Given the description of an element on the screen output the (x, y) to click on. 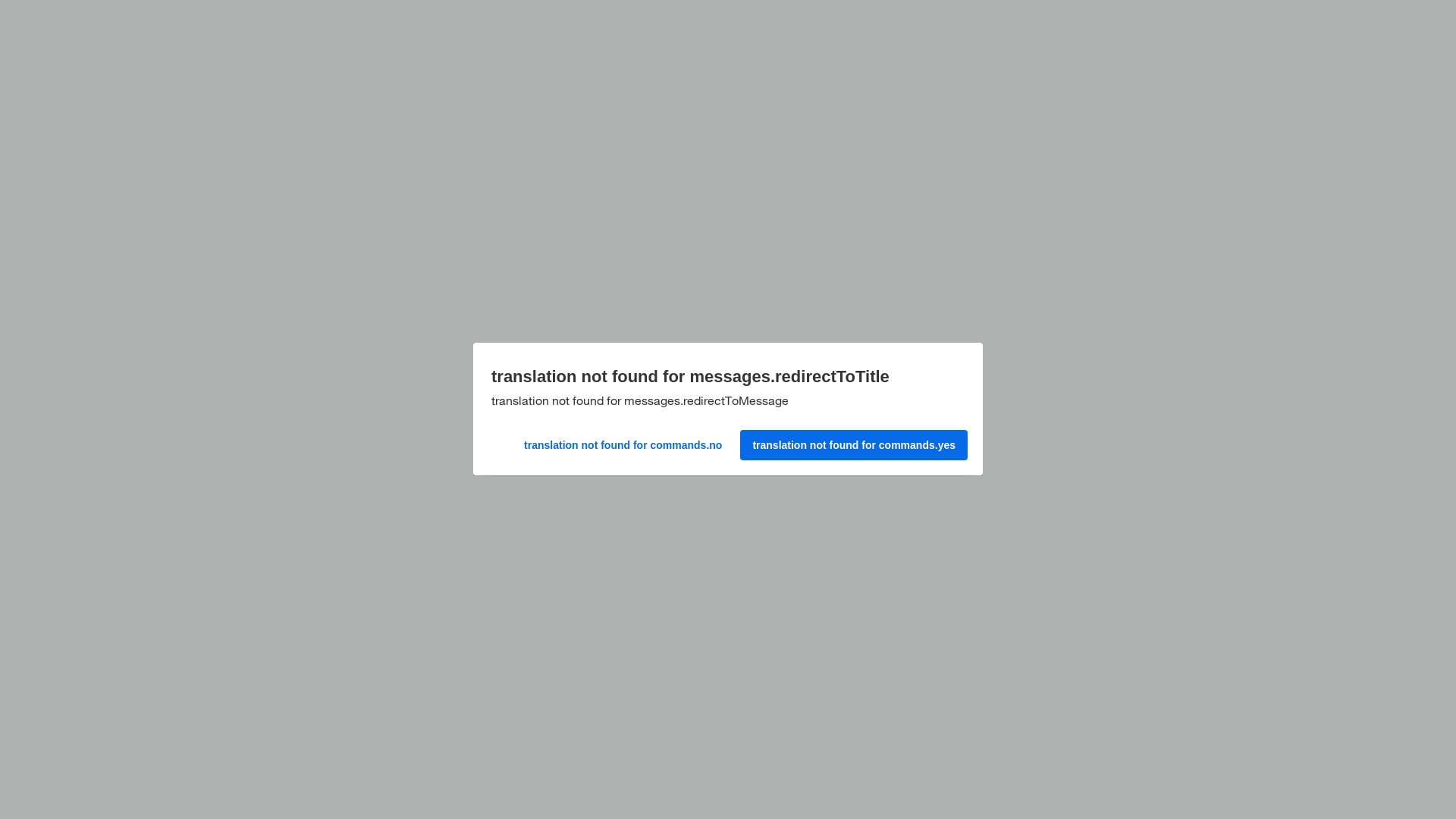
translation not found for commands.yes Element type: text (851, 442)
translation not found for commands.no Element type: text (688, 438)
